Given the description of an element on the screen output the (x, y) to click on. 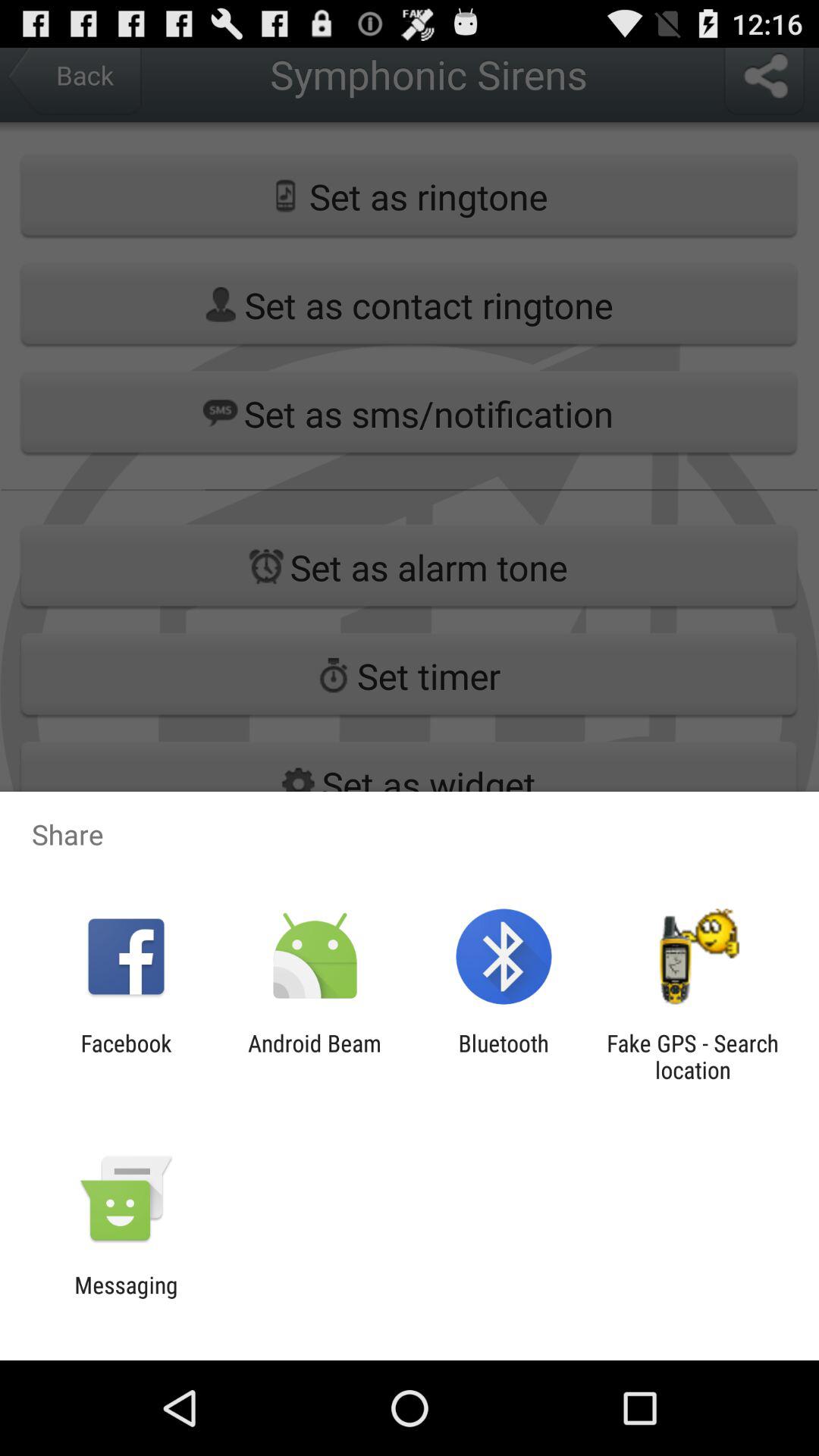
tap the item next to the bluetooth item (692, 1056)
